Given the description of an element on the screen output the (x, y) to click on. 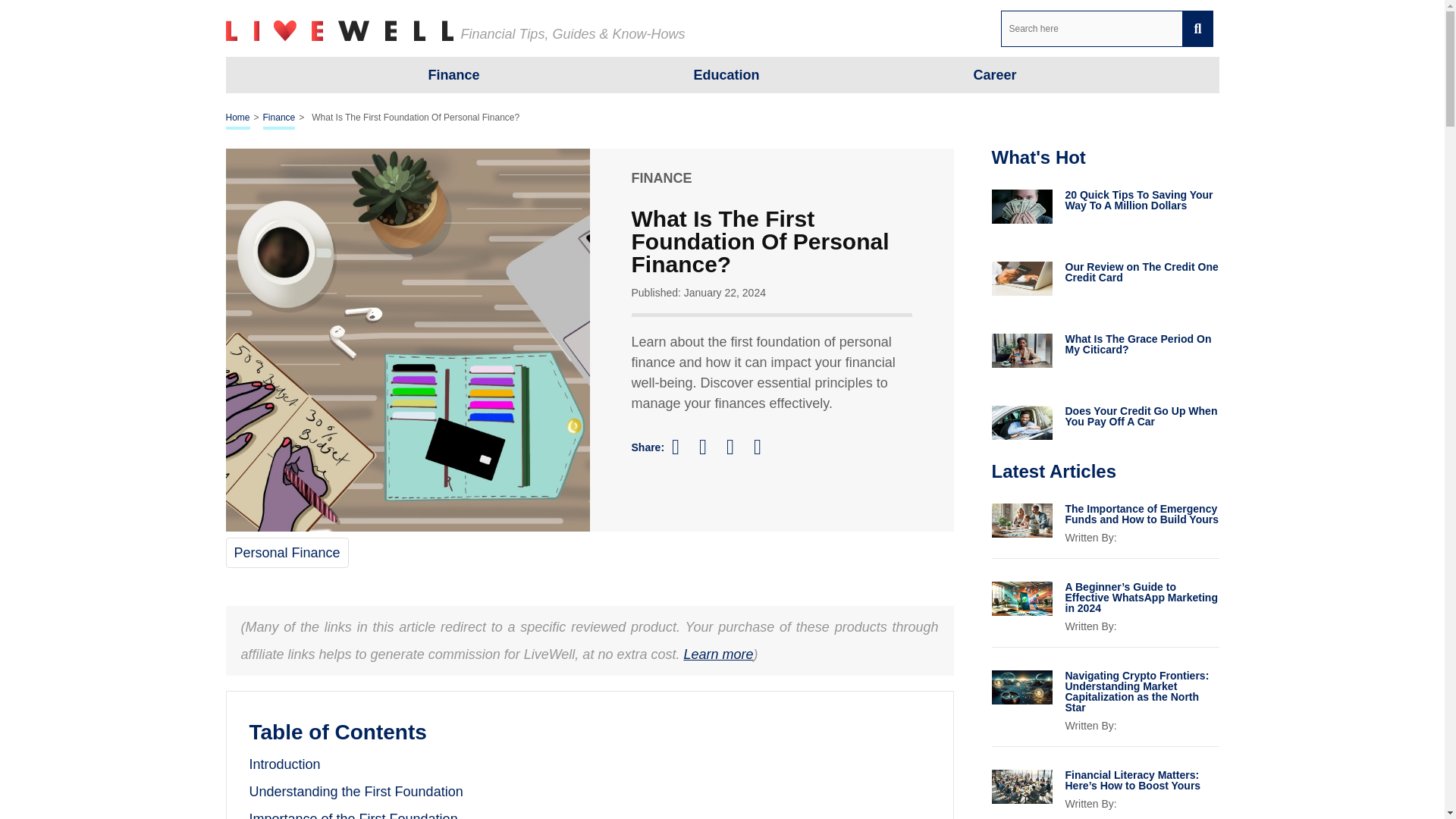
Education (725, 74)
20 Quick Tips To Saving Your Way To A Million Dollars (1141, 199)
Career (993, 74)
What Is The Grace Period On My Citicard? (1141, 343)
Learn more (717, 654)
Share on WhatsApp (764, 446)
Share on Twitter (709, 446)
Home (237, 118)
Finance (453, 74)
Importance of the First Foundation (352, 815)
Introduction (284, 764)
The Importance of Emergency Funds and How to Build Yours (1141, 513)
Finance (279, 118)
Does Your Credit Go Up When You Pay Off A Car (1141, 415)
